Given the description of an element on the screen output the (x, y) to click on. 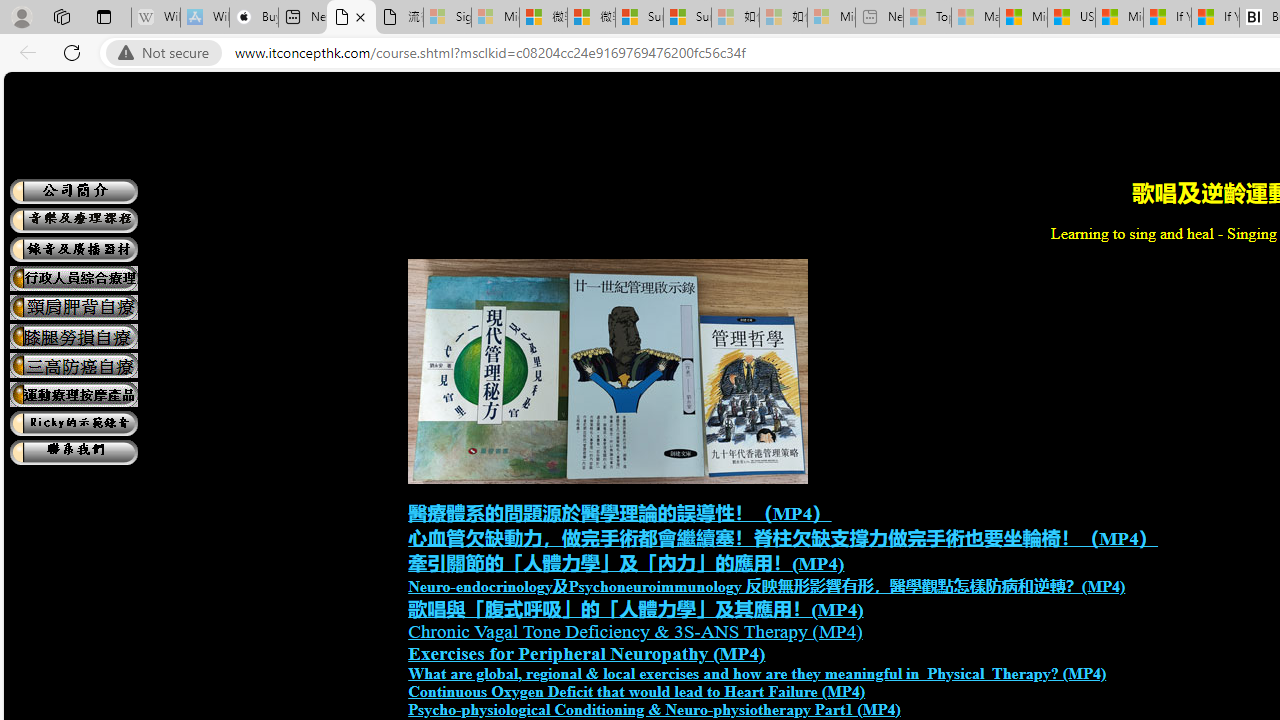
Chronic Vagal Tone Deficiency & 3S-ANS Therapy (MP4) (635, 631)
Marine life - MSN - Sleeping (975, 17)
